Given the description of an element on the screen output the (x, y) to click on. 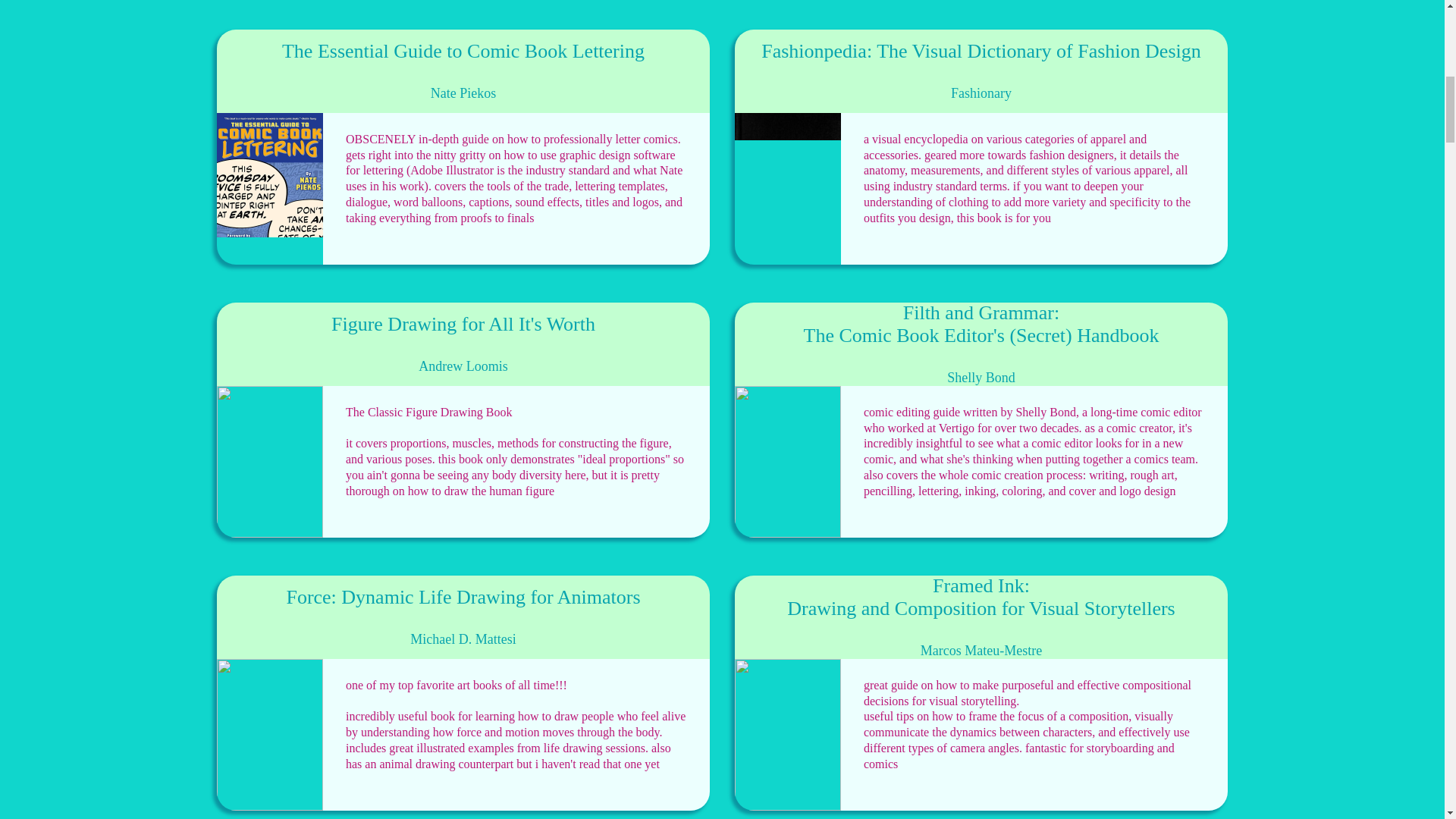
Force: Dynamic Life Drawing for Animators (462, 597)
Figure Drawing for All It's Worth (462, 323)
The Essential Guide to Comic Book Lettering (462, 51)
